Given the description of an element on the screen output the (x, y) to click on. 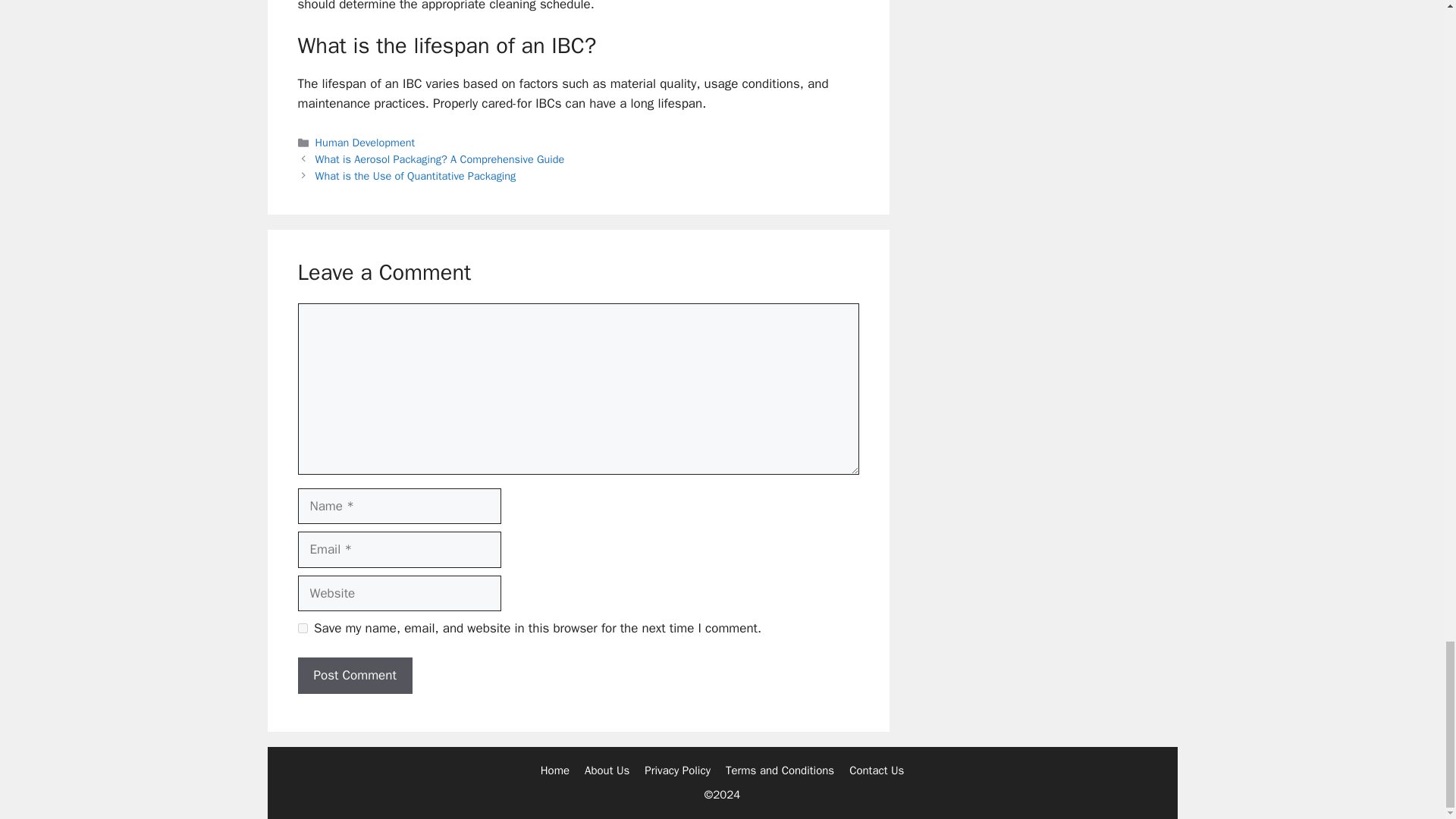
What is the Use of Quantitative Packaging (415, 175)
yes (302, 628)
What is Aerosol Packaging? A Comprehensive Guide (439, 159)
Human Development (364, 142)
Post Comment (354, 675)
Post Comment (354, 675)
